Given the description of an element on the screen output the (x, y) to click on. 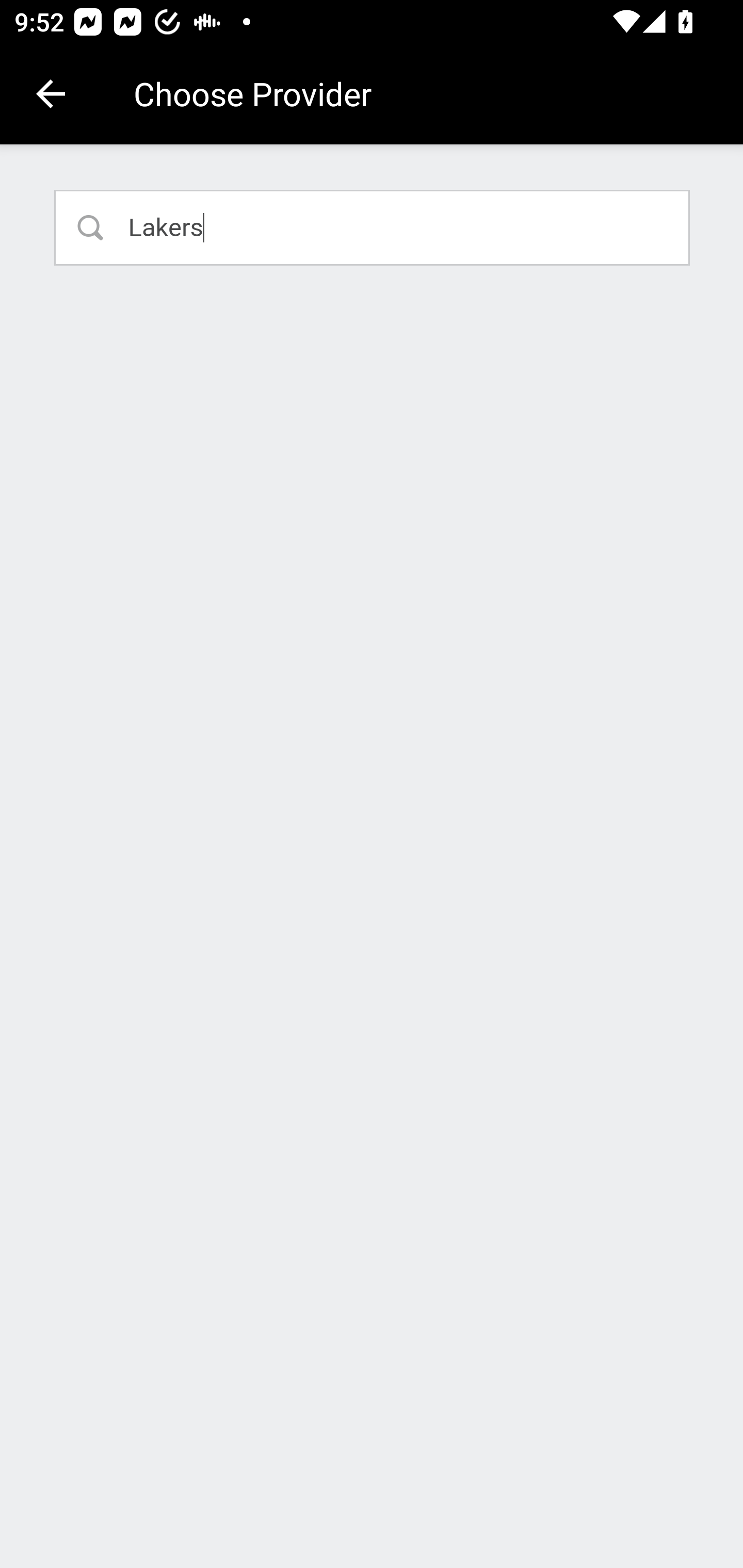
Navigate up (50, 93)
Lakers (372, 227)
